Given the description of an element on the screen output the (x, y) to click on. 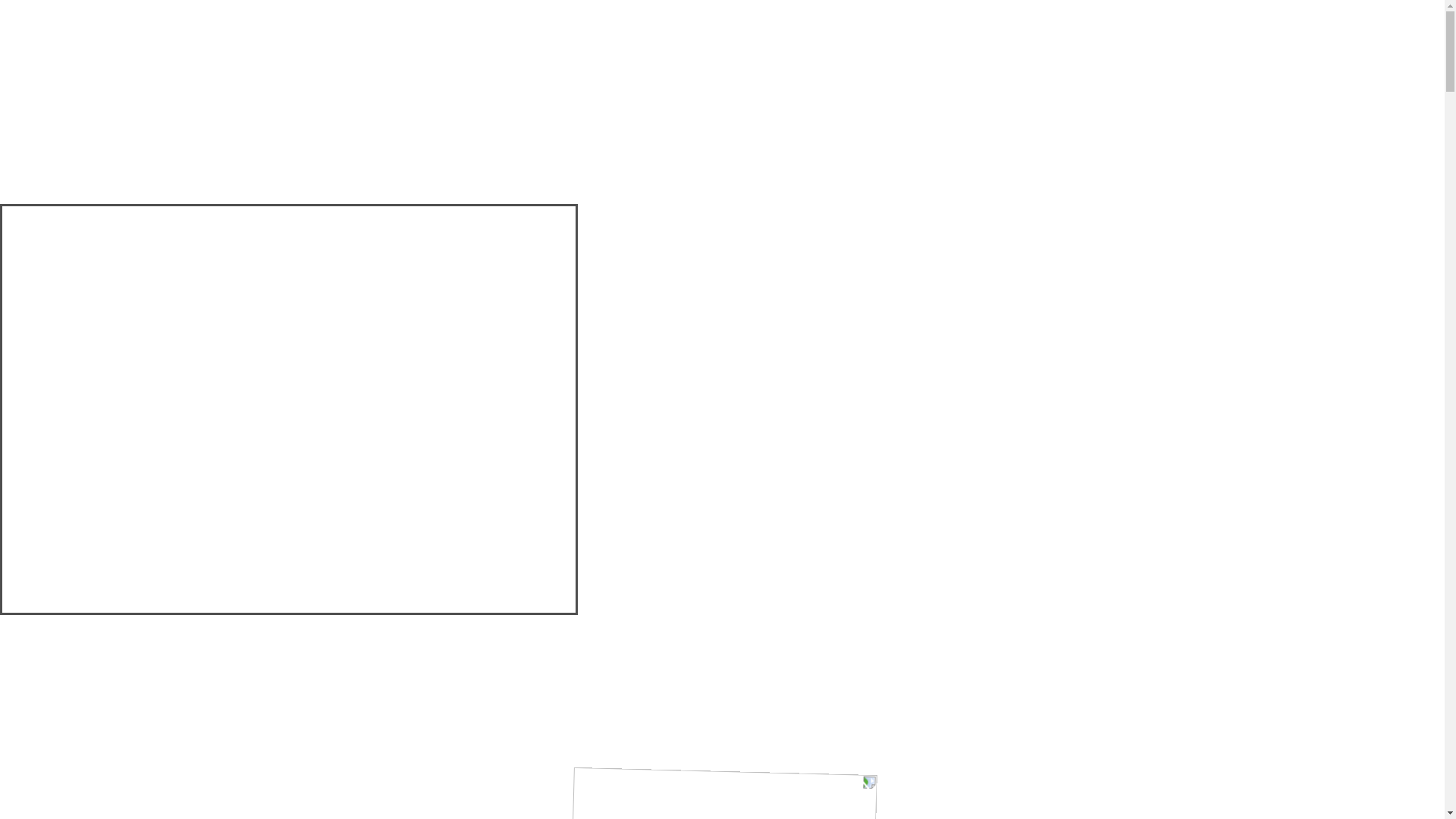
Skip to main content Element type: text (5, 5)
